Given the description of an element on the screen output the (x, y) to click on. 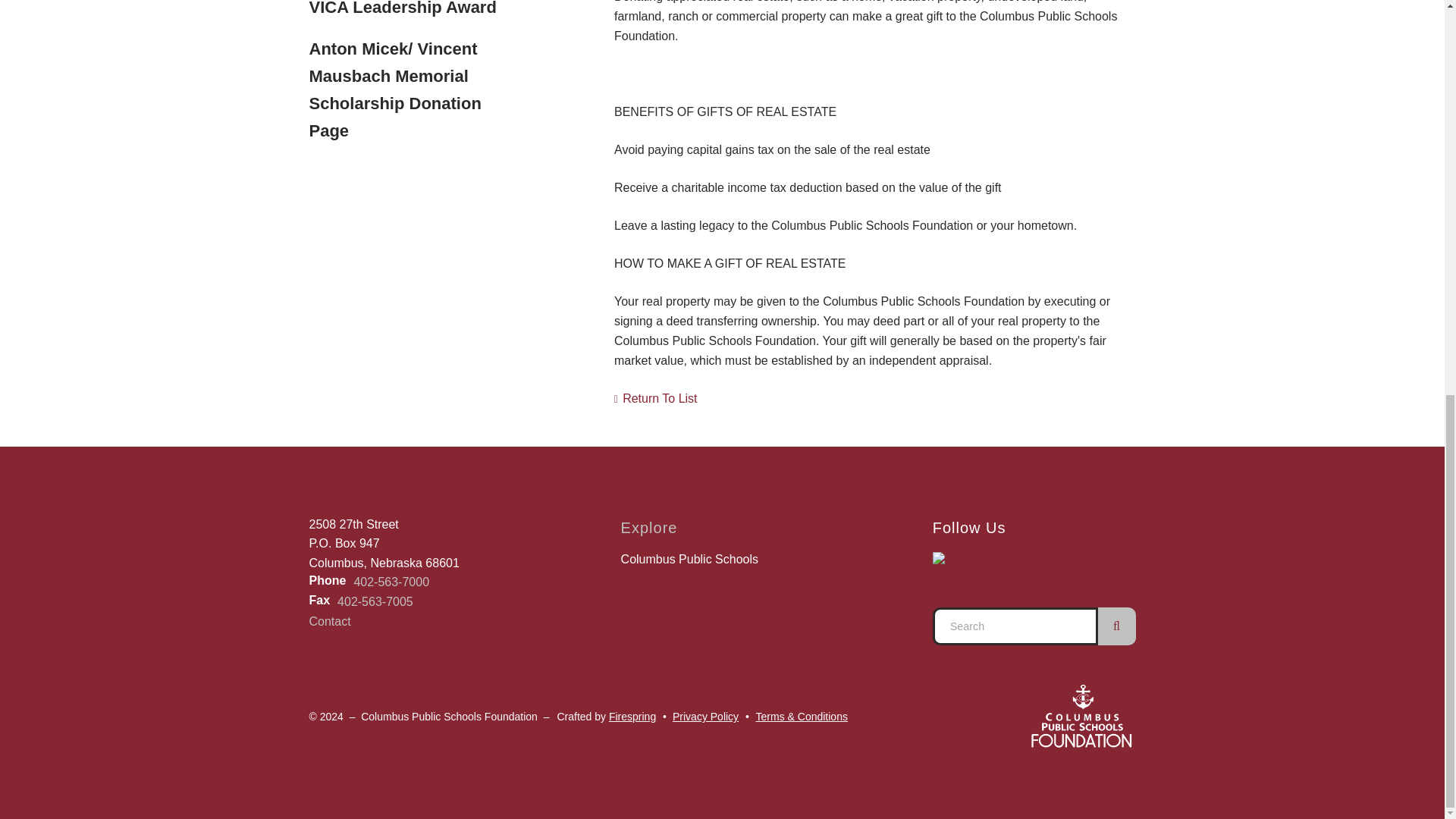
logo (1082, 717)
search (1116, 626)
